Given the description of an element on the screen output the (x, y) to click on. 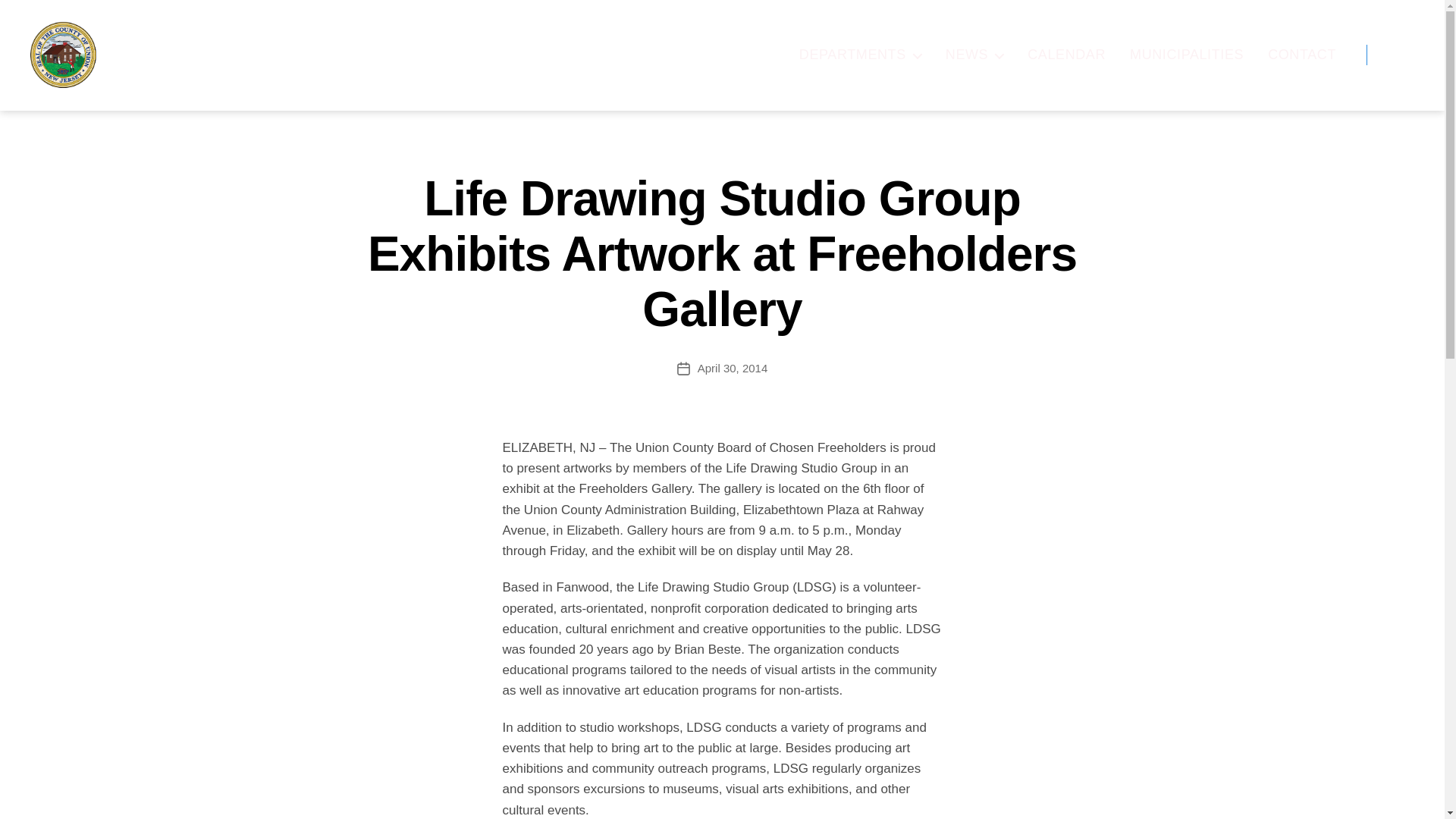
CALENDAR (1066, 54)
DEPARTMENTS (860, 54)
MUNICIPALITIES (1186, 54)
CONTACT (1302, 54)
NEWS (973, 54)
